Given the description of an element on the screen output the (x, y) to click on. 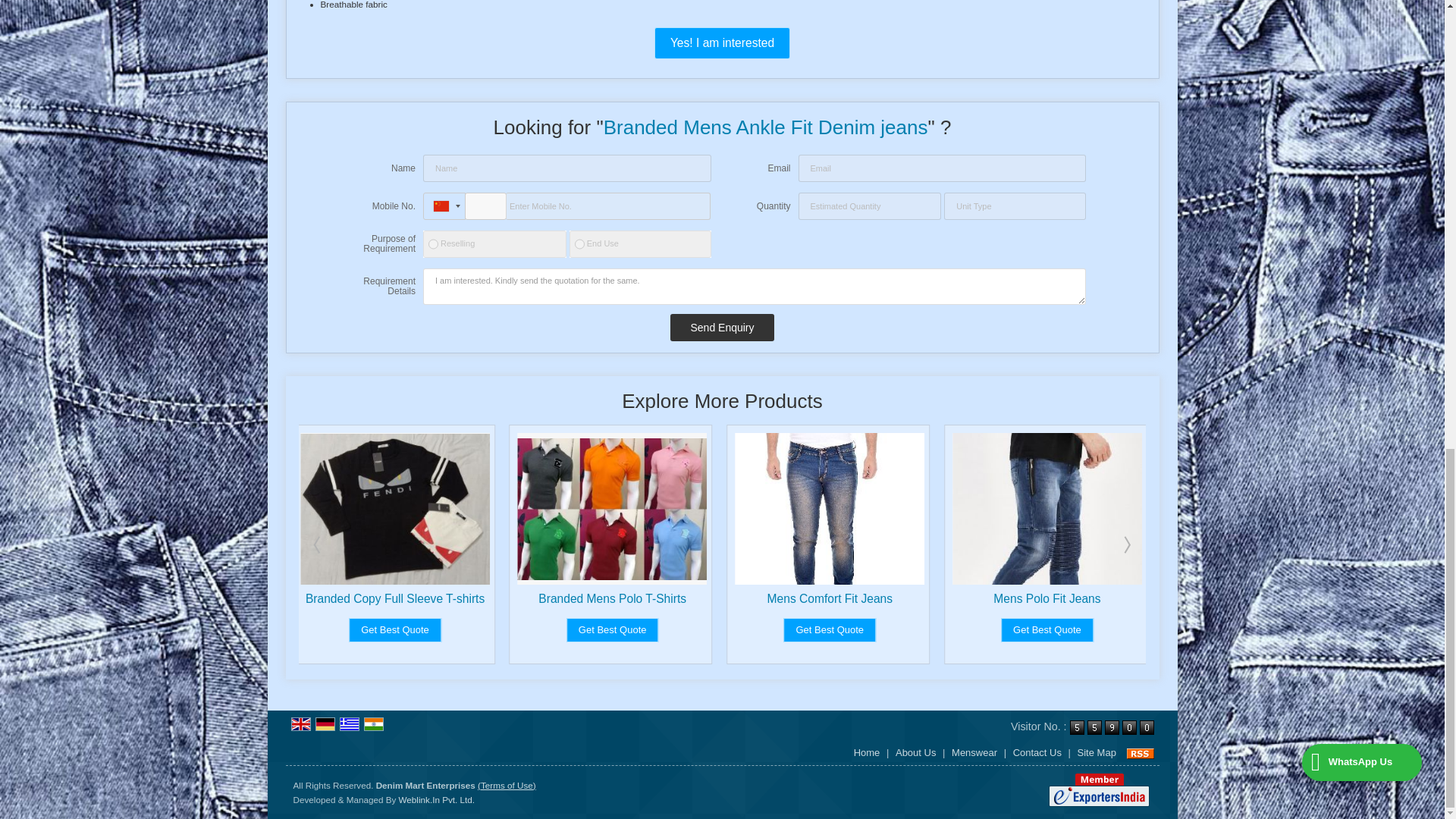
Send Enquiry (721, 327)
